Given the description of an element on the screen output the (x, y) to click on. 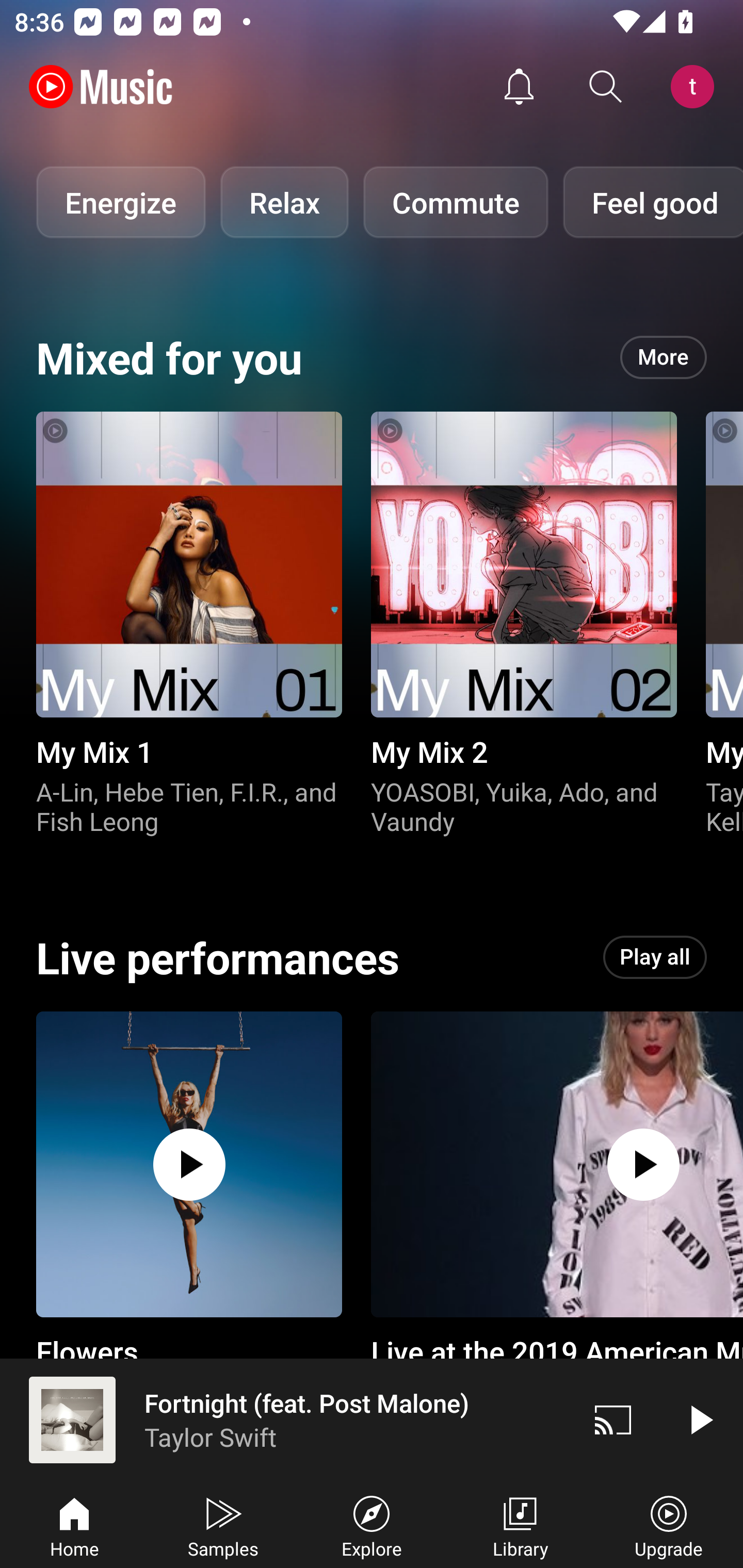
Activity feed (518, 86)
Search (605, 86)
Account (696, 86)
Fortnight (feat. Post Malone) Taylor Swift (284, 1419)
Cast. Disconnected (612, 1419)
Play video (699, 1419)
Home (74, 1524)
Samples (222, 1524)
Explore (371, 1524)
Library (519, 1524)
Upgrade (668, 1524)
